Given the description of an element on the screen output the (x, y) to click on. 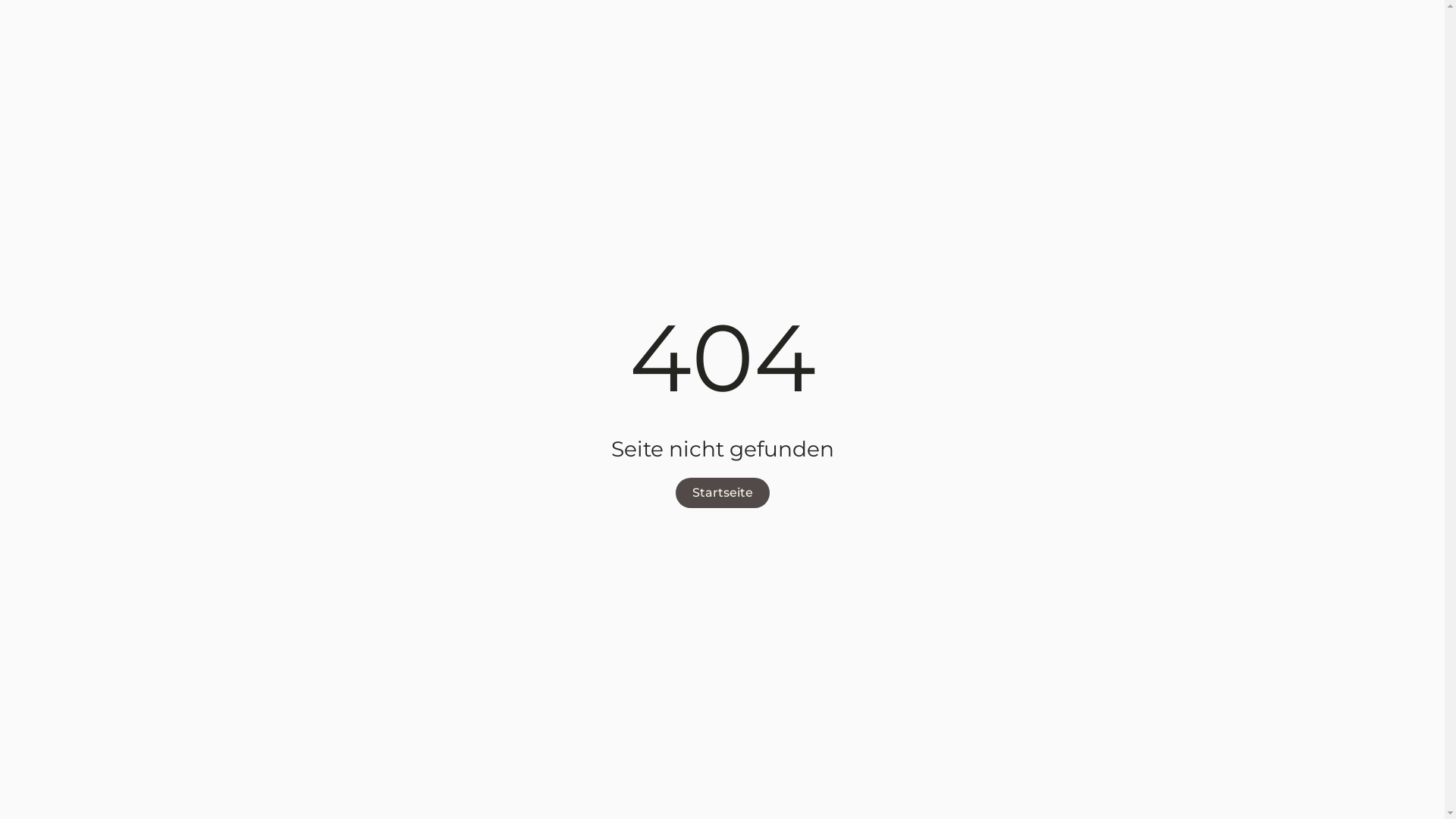
Startseite Element type: text (721, 492)
